Given the description of an element on the screen output the (x, y) to click on. 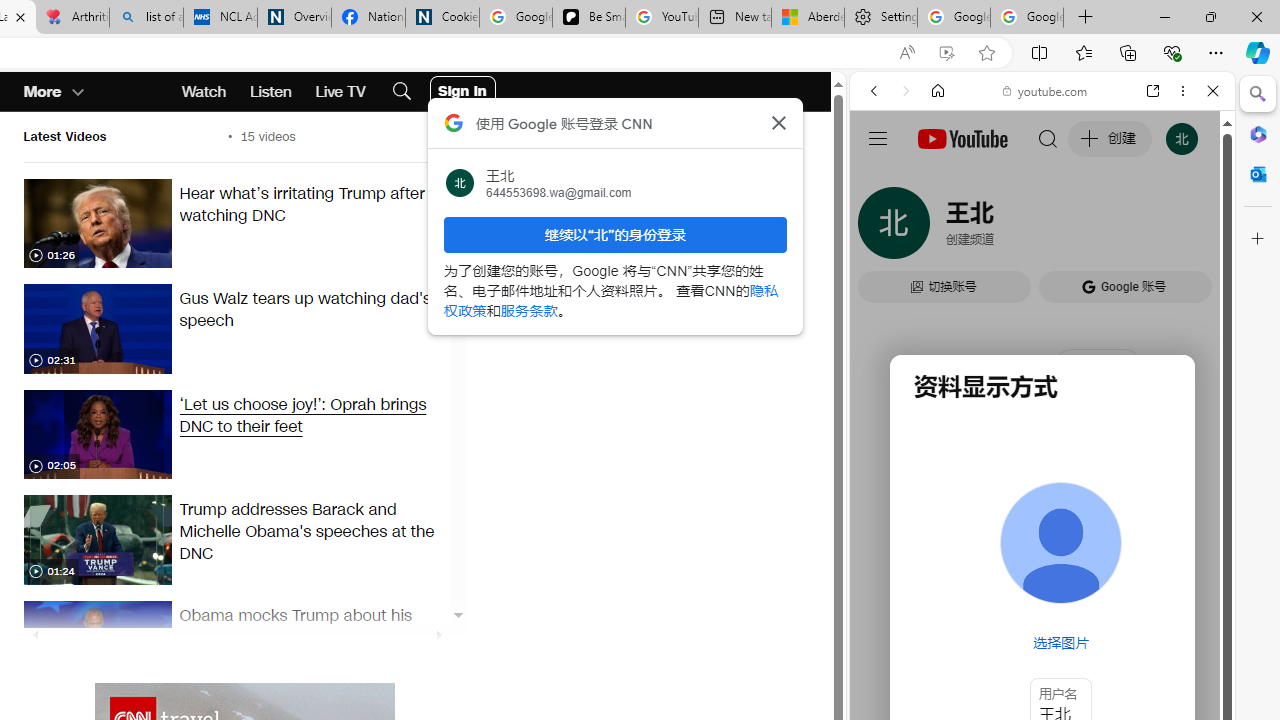
Aberdeen, Hong Kong SAR hourly forecast | Microsoft Weather (807, 17)
youtube.com (1046, 90)
still_20889119_3870374.503_still.jpg (97, 645)
